Given the description of an element on the screen output the (x, y) to click on. 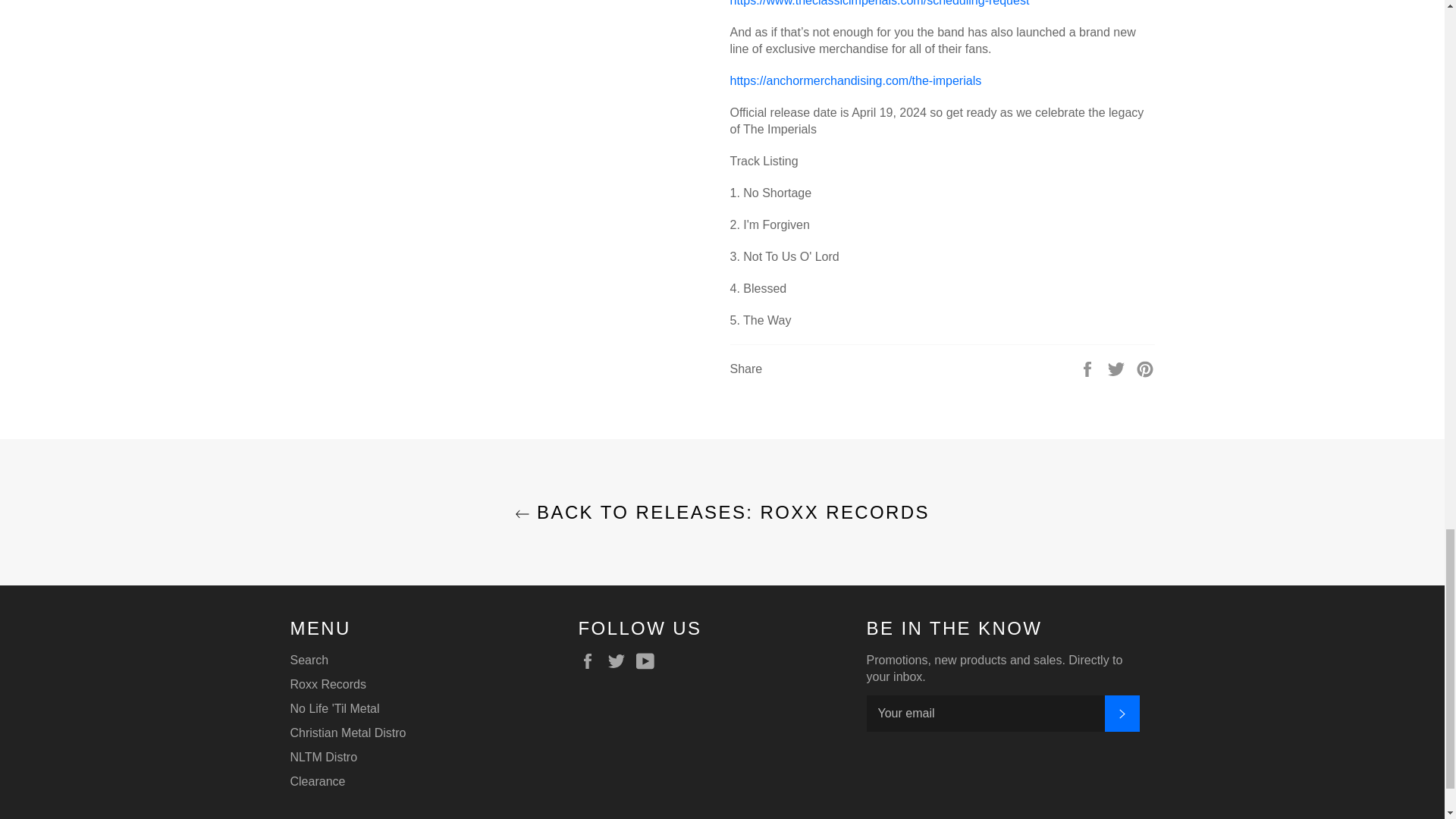
Tweet on Twitter (1117, 367)
Pin on Pinterest (1144, 367)
Roxx Records on Facebook (591, 660)
Share on Facebook (1088, 367)
Roxx Records on YouTube (649, 660)
Roxx Records on Twitter (620, 660)
